Given the description of an element on the screen output the (x, y) to click on. 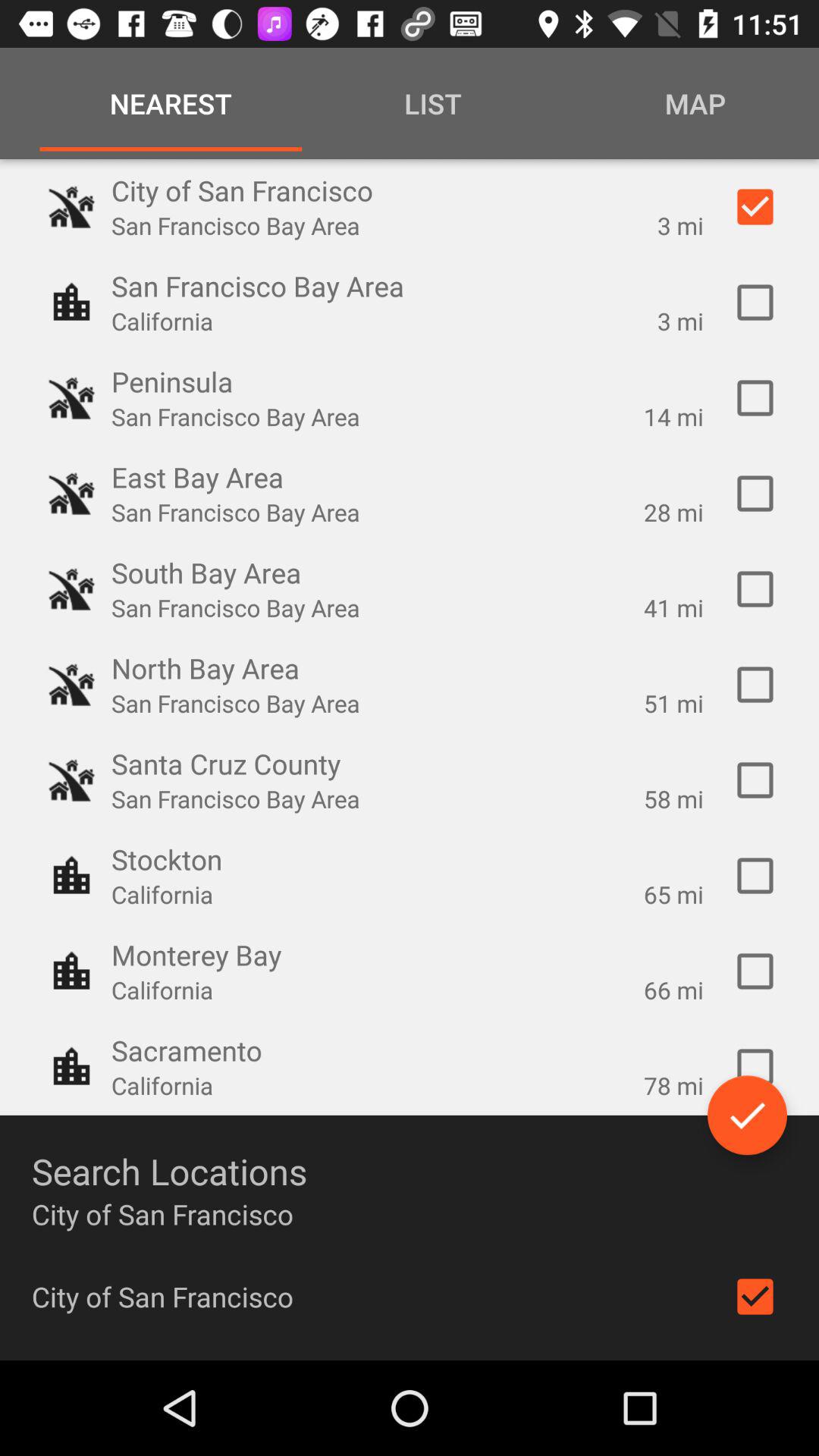
check the box (755, 684)
